Given the description of an element on the screen output the (x, y) to click on. 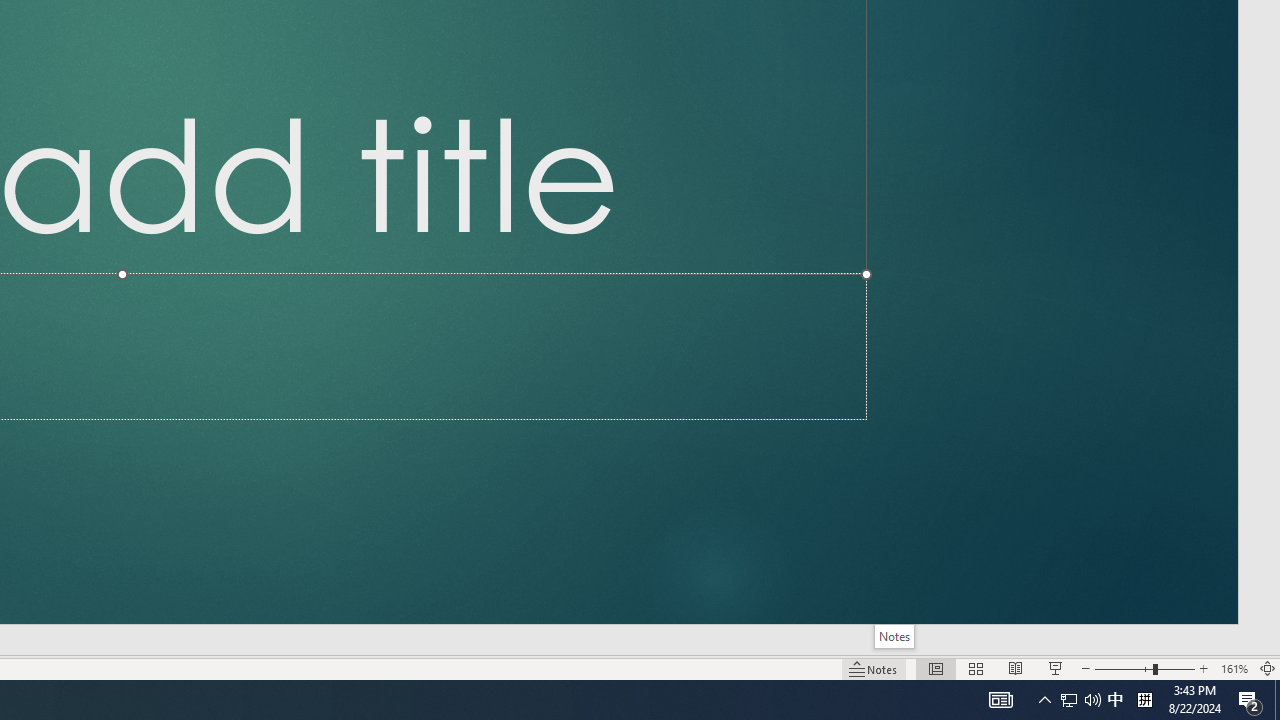
Notes (894, 636)
Zoom 161% (1234, 668)
